Given the description of an element on the screen output the (x, y) to click on. 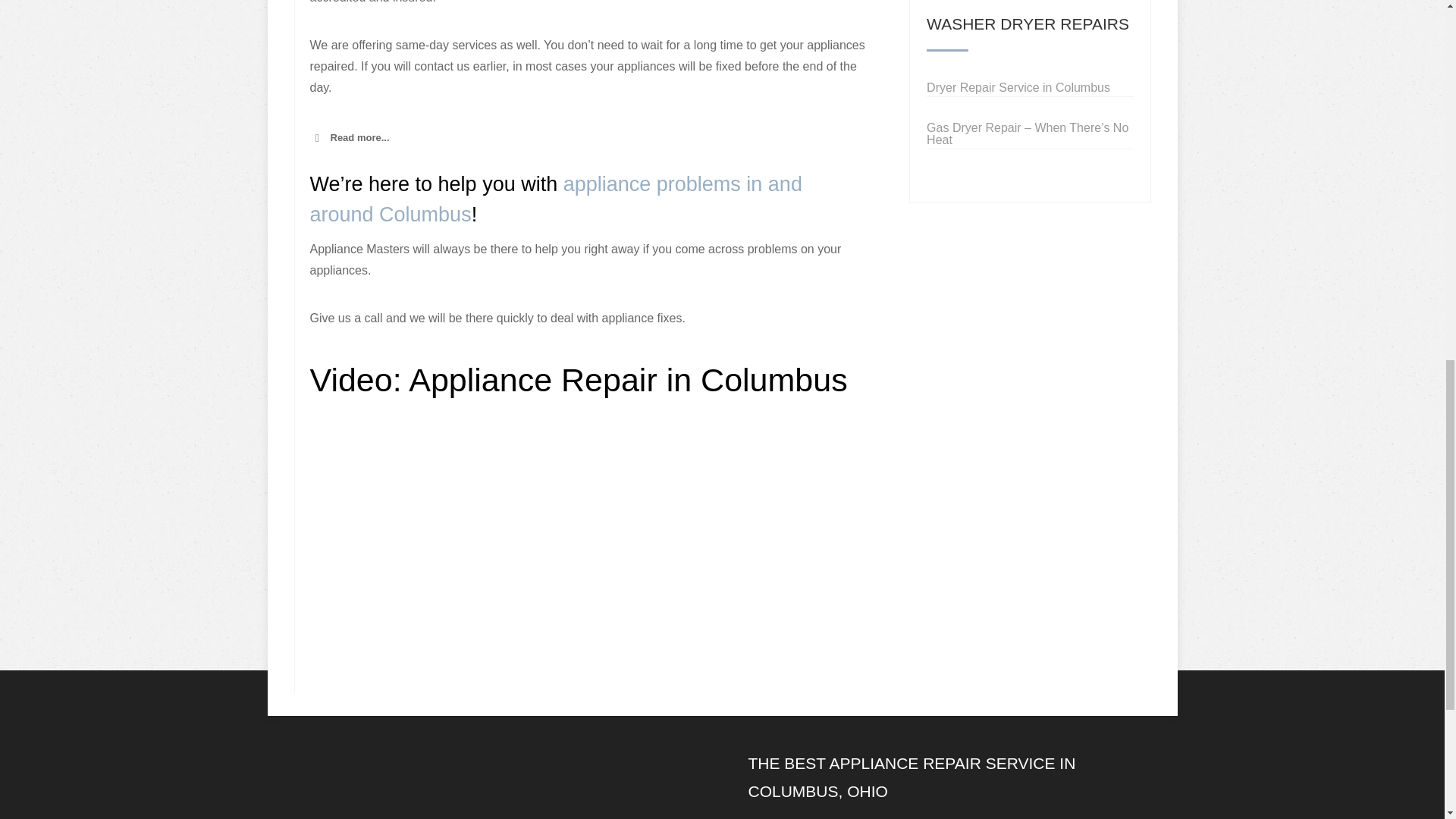
Dryer Repair Service in Columbus (1029, 82)
appliance problems in and around Columbus (555, 199)
